Given the description of an element on the screen output the (x, y) to click on. 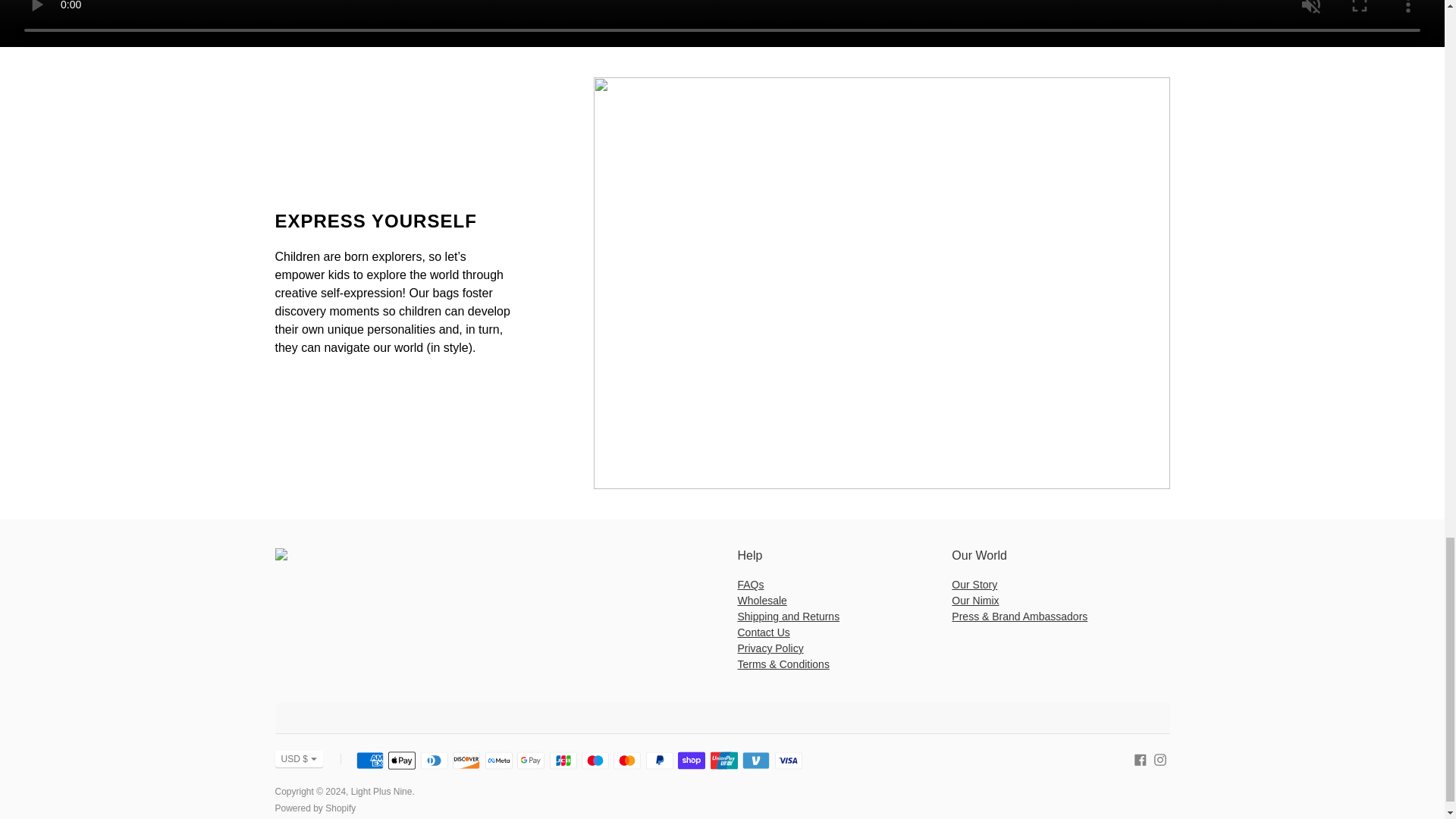
Maestro (594, 760)
Meta Pay (498, 760)
American Express (370, 760)
Discover (466, 760)
Light Plus Nine on Facebook (1140, 758)
Diners Club (434, 760)
JCB (563, 760)
Shop Pay (691, 760)
Mastercard (626, 760)
Apple Pay (401, 760)
